Given the description of an element on the screen output the (x, y) to click on. 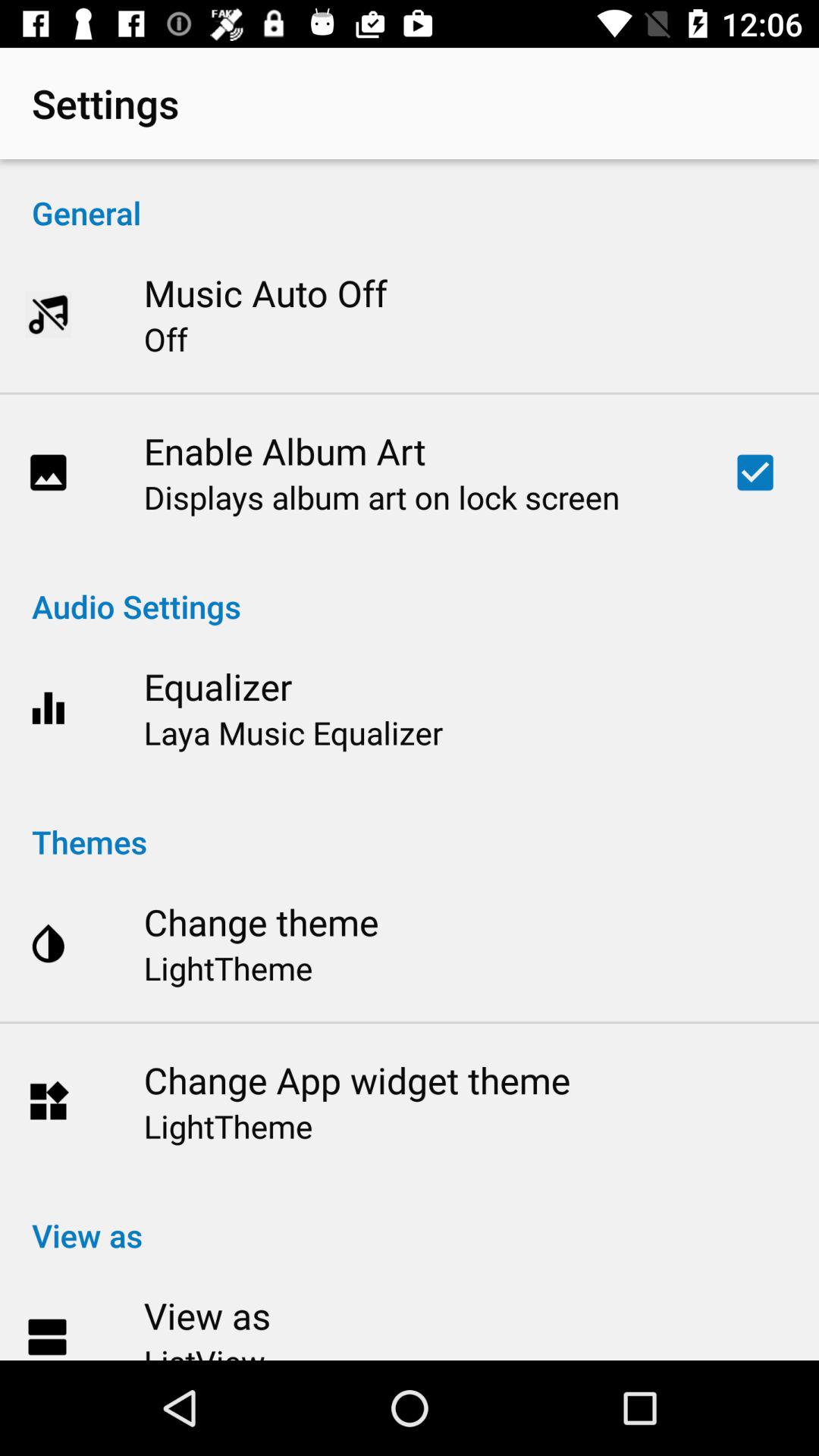
click item above the lighttheme (356, 1079)
